Given the description of an element on the screen output the (x, y) to click on. 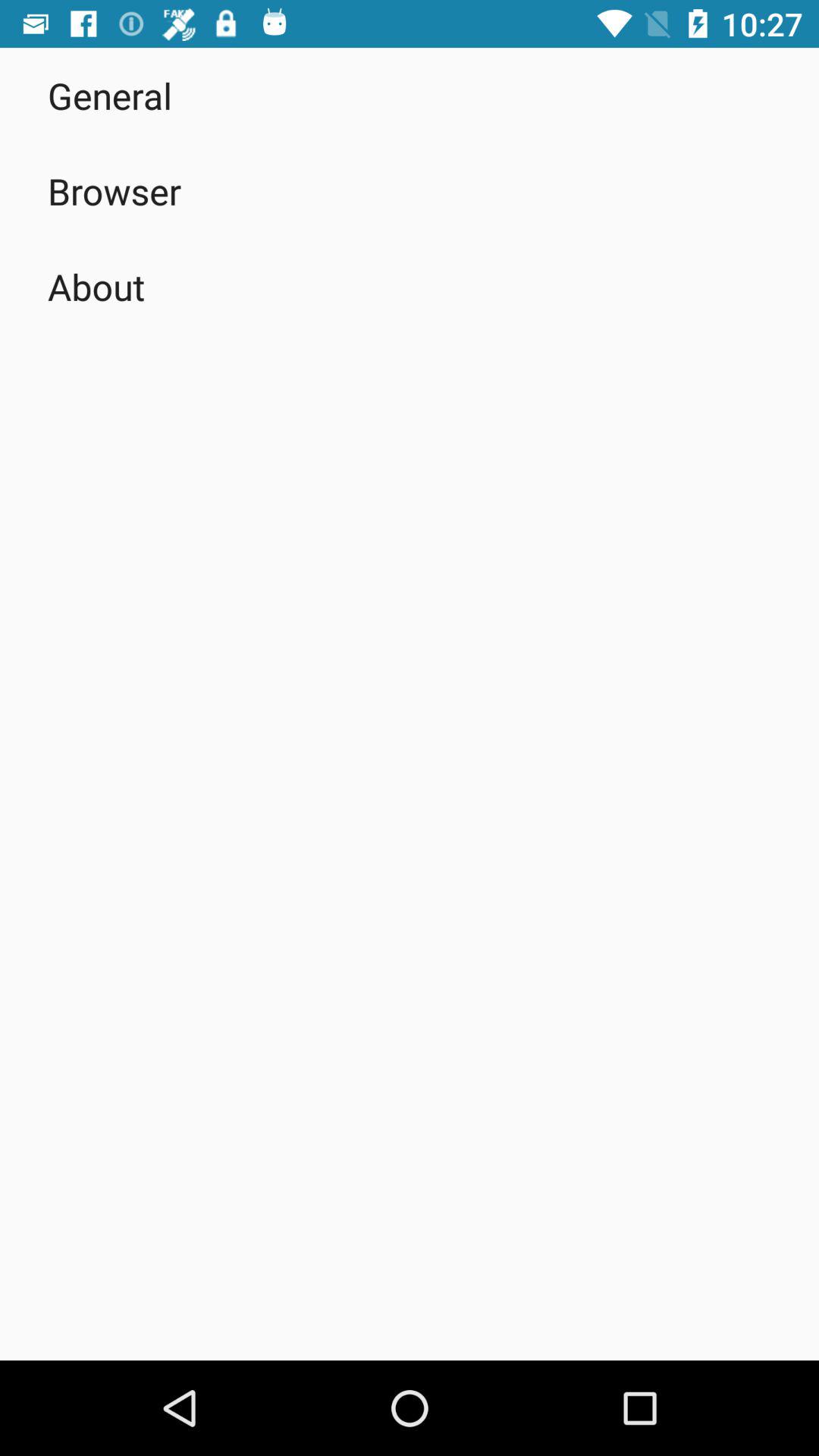
scroll to the general app (109, 95)
